Given the description of an element on the screen output the (x, y) to click on. 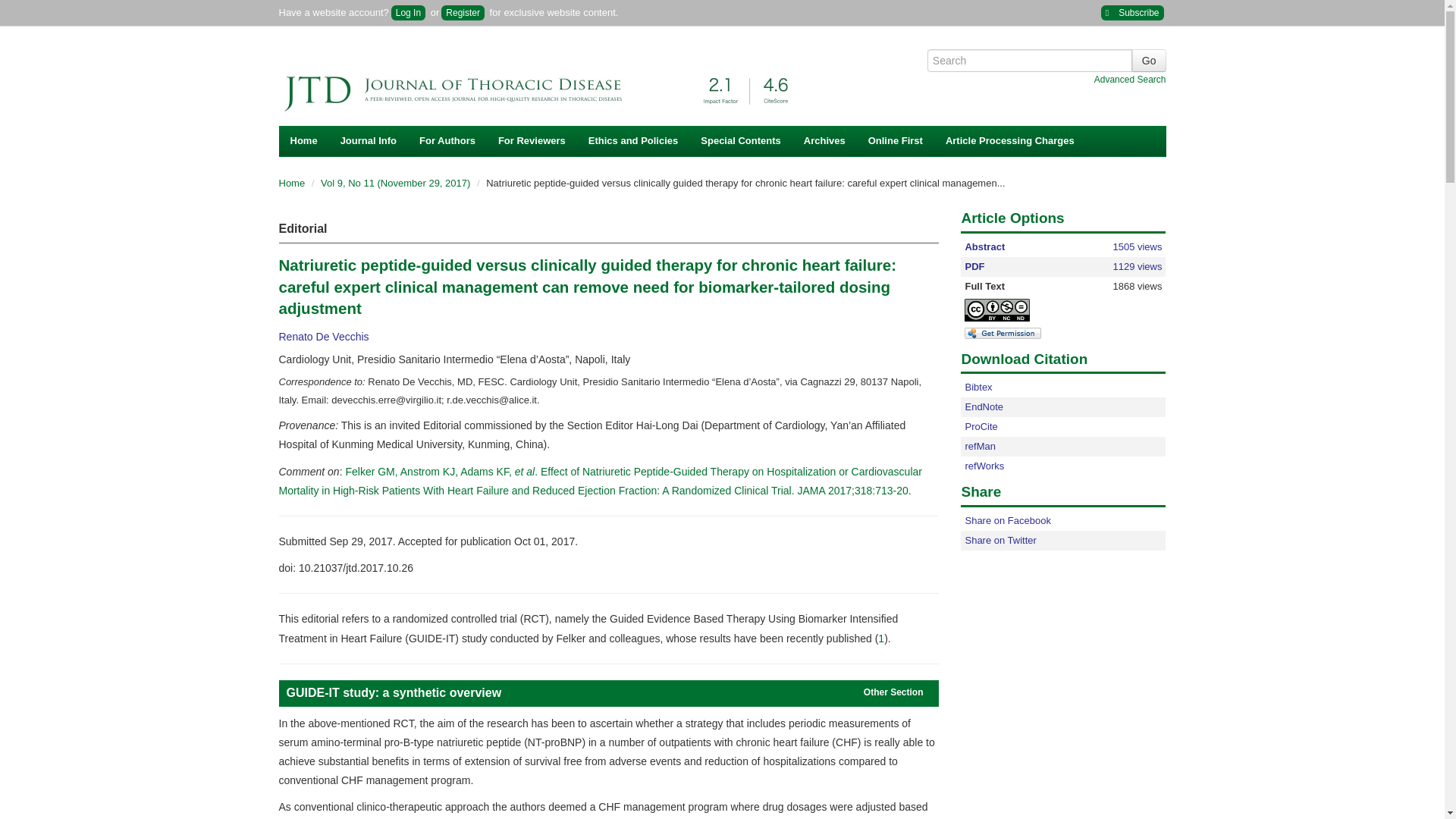
License (996, 309)
For Reviewers (531, 141)
Advanced Search (1130, 79)
 Subscribe (1131, 12)
License (1009, 309)
Ethics and Policies (633, 141)
Home (304, 141)
Journal Info (368, 141)
Journal of Thoracic Disease (544, 83)
Register (462, 12)
Go (1149, 60)
Subscribe (1131, 12)
Log In (408, 12)
For Authors (446, 141)
Go (1149, 60)
